Given the description of an element on the screen output the (x, y) to click on. 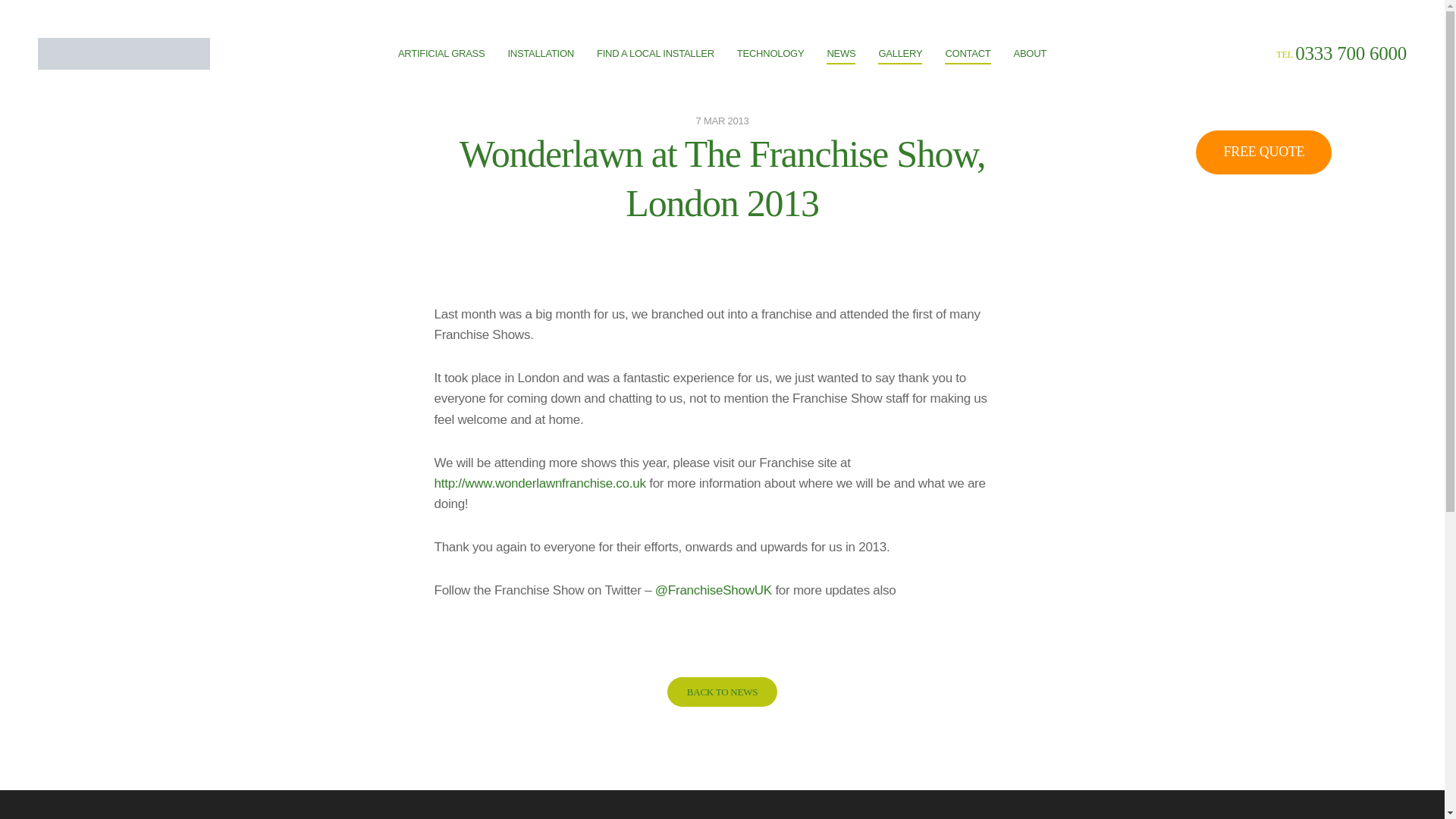
ARTIFICIAL GRASS (440, 53)
INSTALLATION (539, 53)
NEWS (841, 54)
BACK TO NEWS (721, 691)
TECHNOLOGY (770, 53)
CONTACT (967, 54)
ABOUT (1029, 53)
GALLERY (899, 54)
FREE QUOTE (1263, 152)
FIND A LOCAL INSTALLER (655, 53)
